Given the description of an element on the screen output the (x, y) to click on. 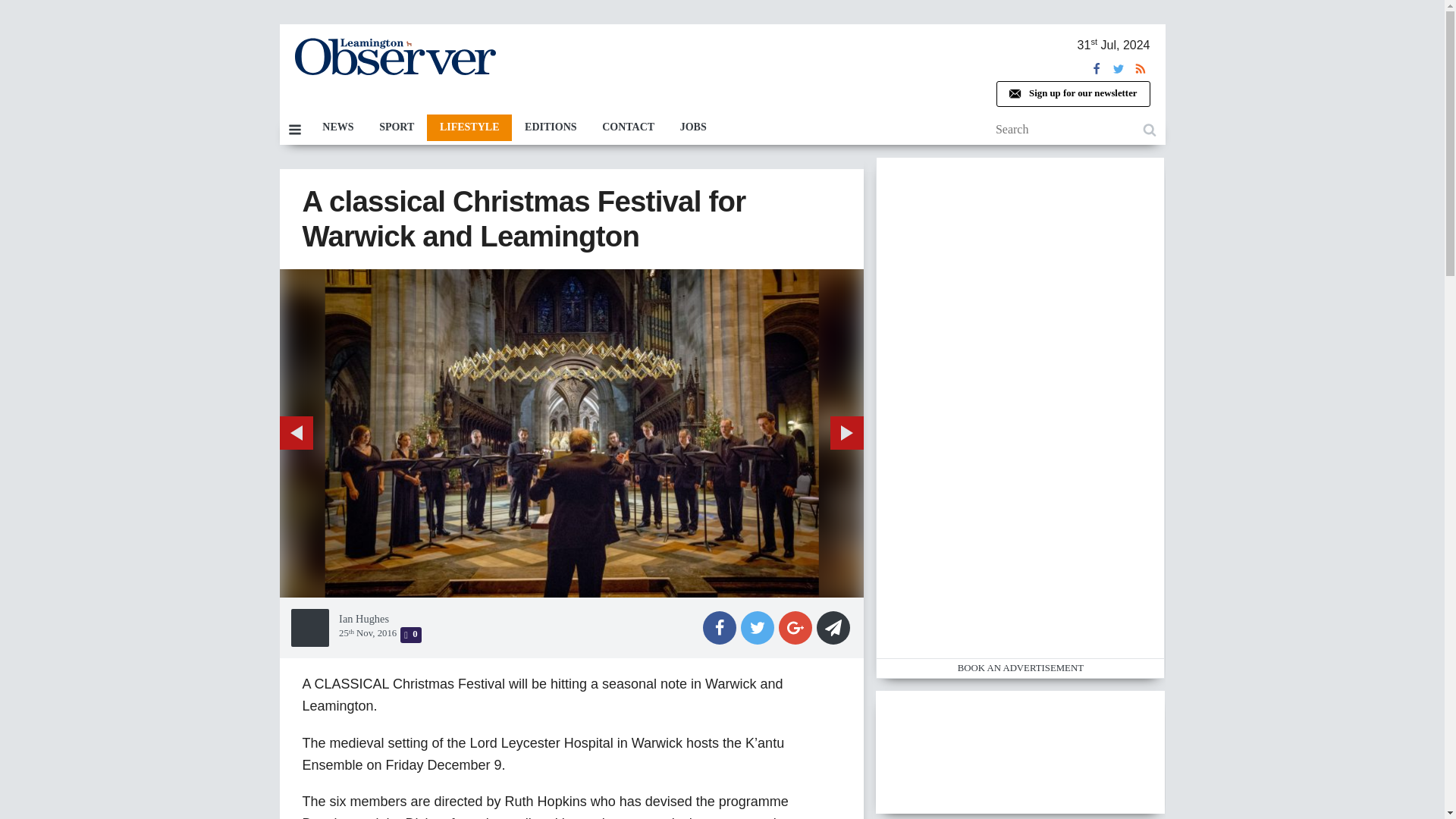
SPORT (402, 127)
EDITIONS (556, 127)
The Leamington Observer (399, 55)
NEWS (343, 127)
JOBS (698, 127)
  Sign up for our newsletter (1079, 94)
CONTACT (633, 127)
Ian Hughes (369, 277)
LIFESTYLE (475, 127)
